Given the description of an element on the screen output the (x, y) to click on. 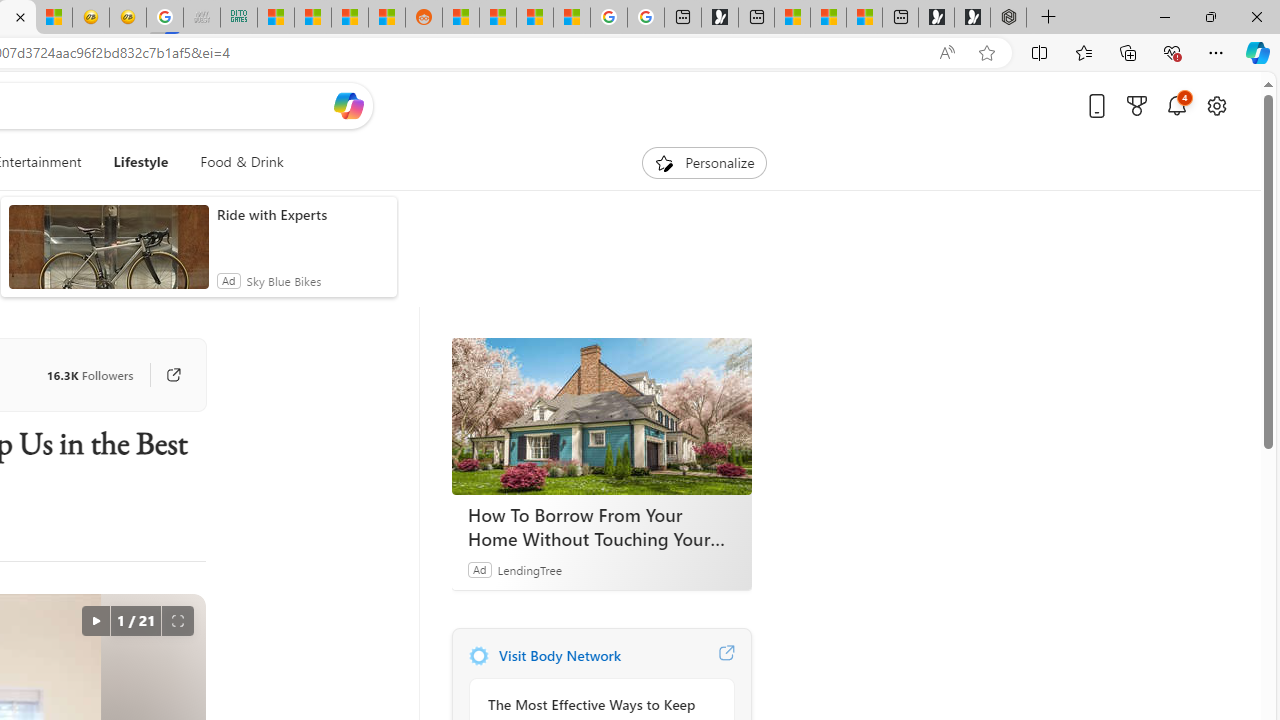
These 3 Stocks Pay You More Than 5% to Own Them (864, 17)
Ride with Experts (302, 214)
anim-content (107, 255)
Visit Body Network website (726, 655)
Body Network (478, 655)
Sky Blue Bikes (283, 280)
autorotate button (95, 620)
